Given the description of an element on the screen output the (x, y) to click on. 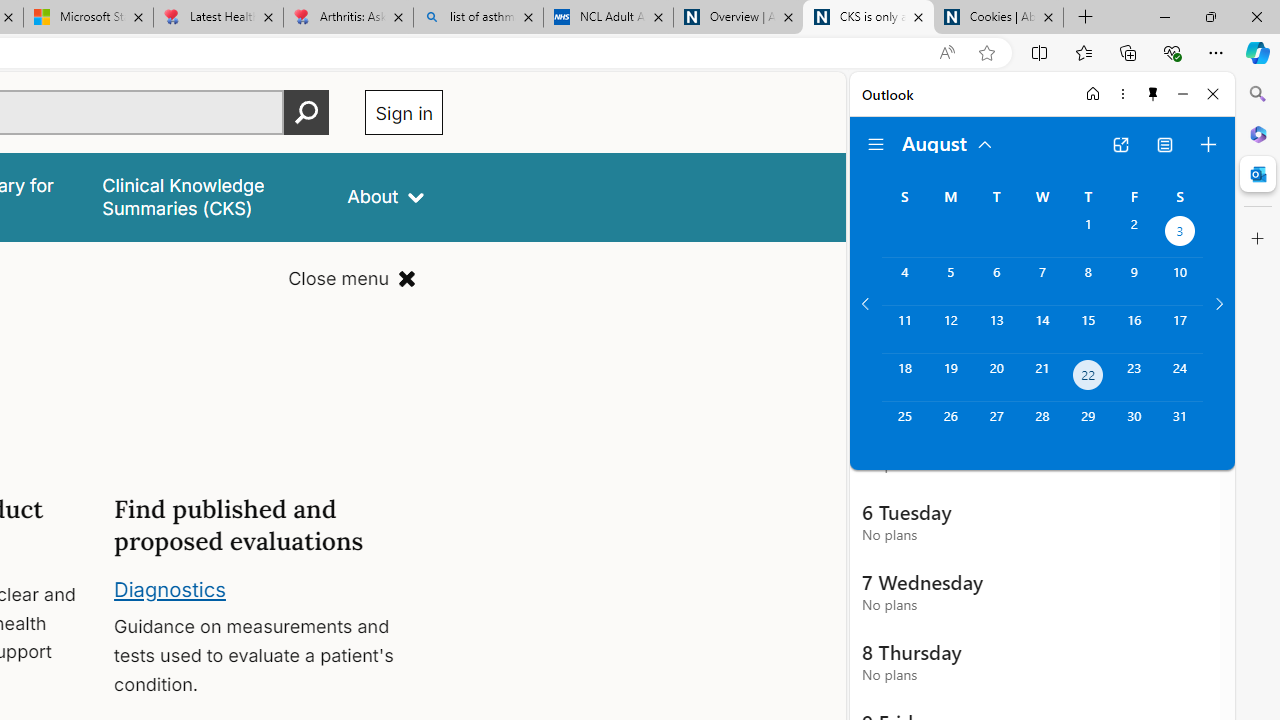
Saturday, August 24, 2024.  (1180, 377)
Saturday, August 3, 2024. Date selected.  (1180, 233)
Saturday, August 17, 2024.  (1180, 329)
false (207, 196)
Thursday, August 15, 2024.  (1088, 329)
Friday, August 9, 2024.  (1134, 281)
Saturday, August 31, 2024.  (1180, 425)
Open in new tab (1120, 144)
Close menu (352, 278)
Sunday, August 25, 2024.  (904, 425)
Friday, August 2, 2024.  (1134, 233)
